Given the description of an element on the screen output the (x, y) to click on. 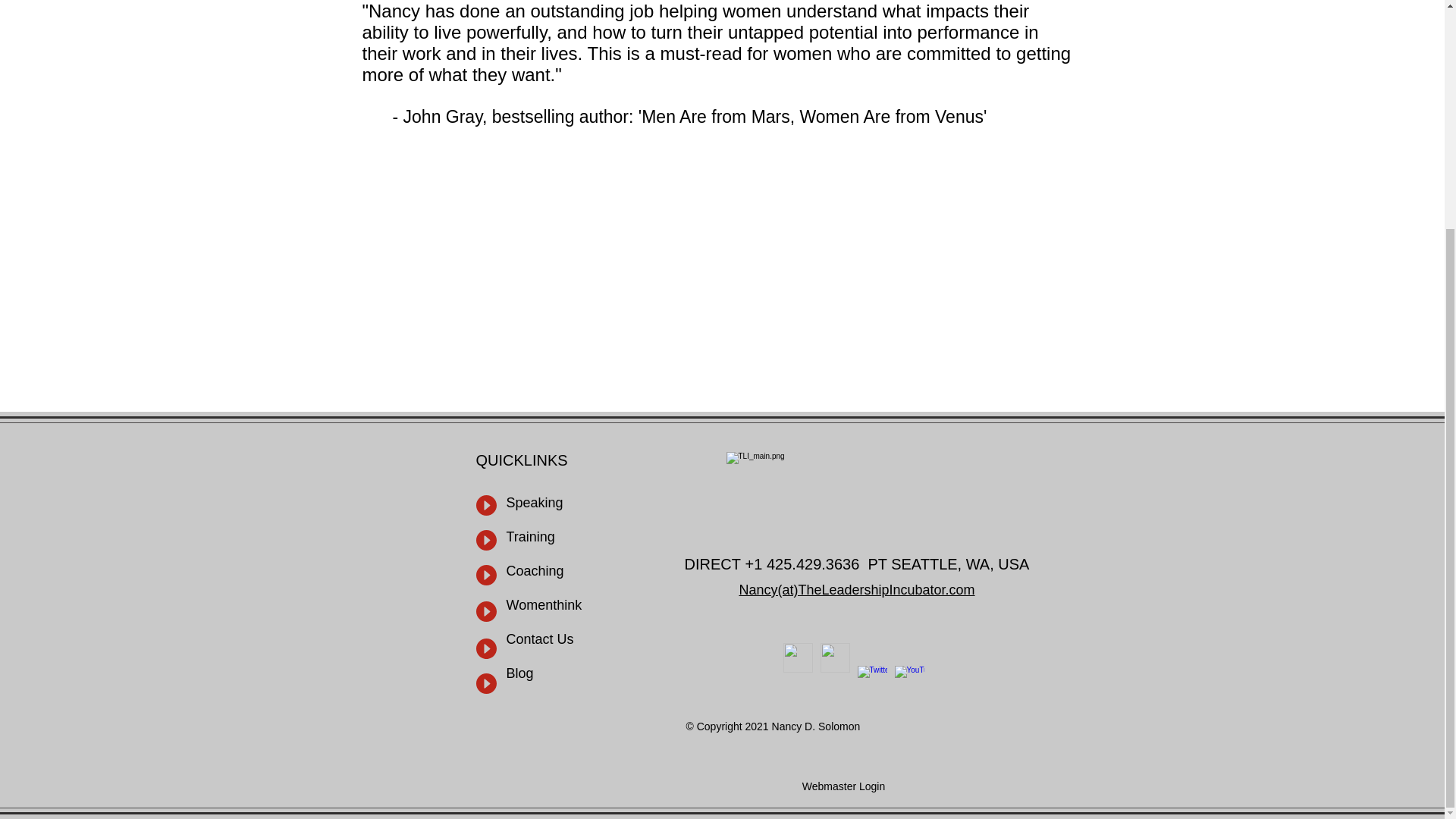
Webmaster Login (843, 786)
